Given the description of an element on the screen output the (x, y) to click on. 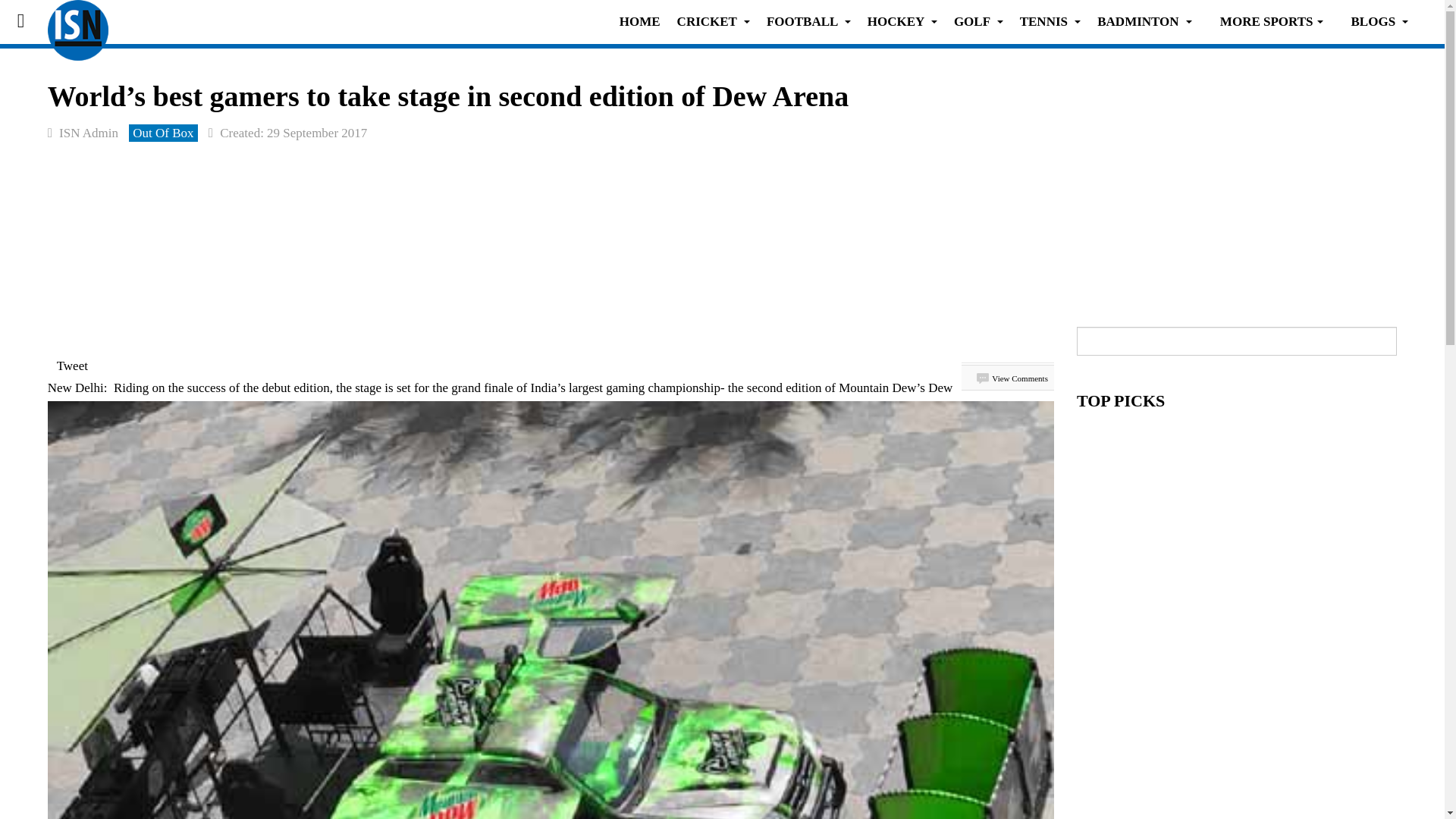
FOOTBALL (808, 21)
Indian Sports News (77, 20)
Add a comment (1012, 378)
CRICKET (713, 21)
Advertisement (1236, 183)
HOME (640, 21)
